Given the description of an element on the screen output the (x, y) to click on. 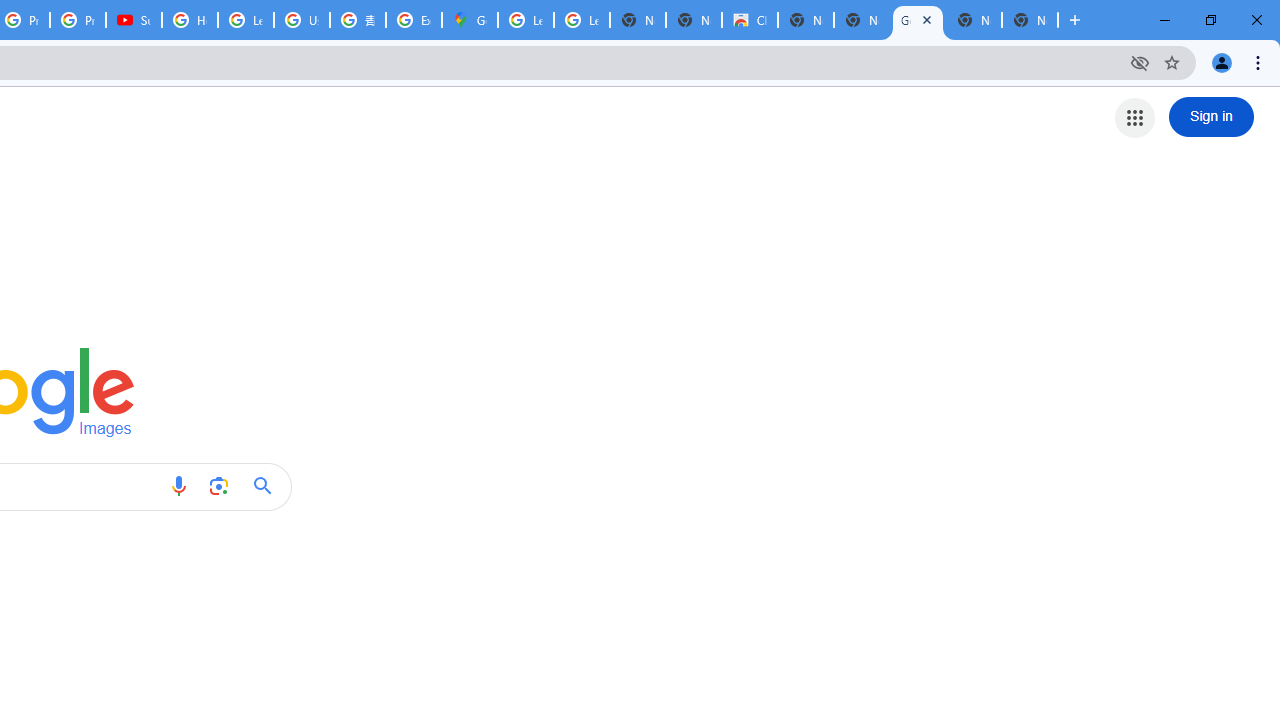
Google Maps (469, 20)
Google Search (268, 485)
